Given the description of an element on the screen output the (x, y) to click on. 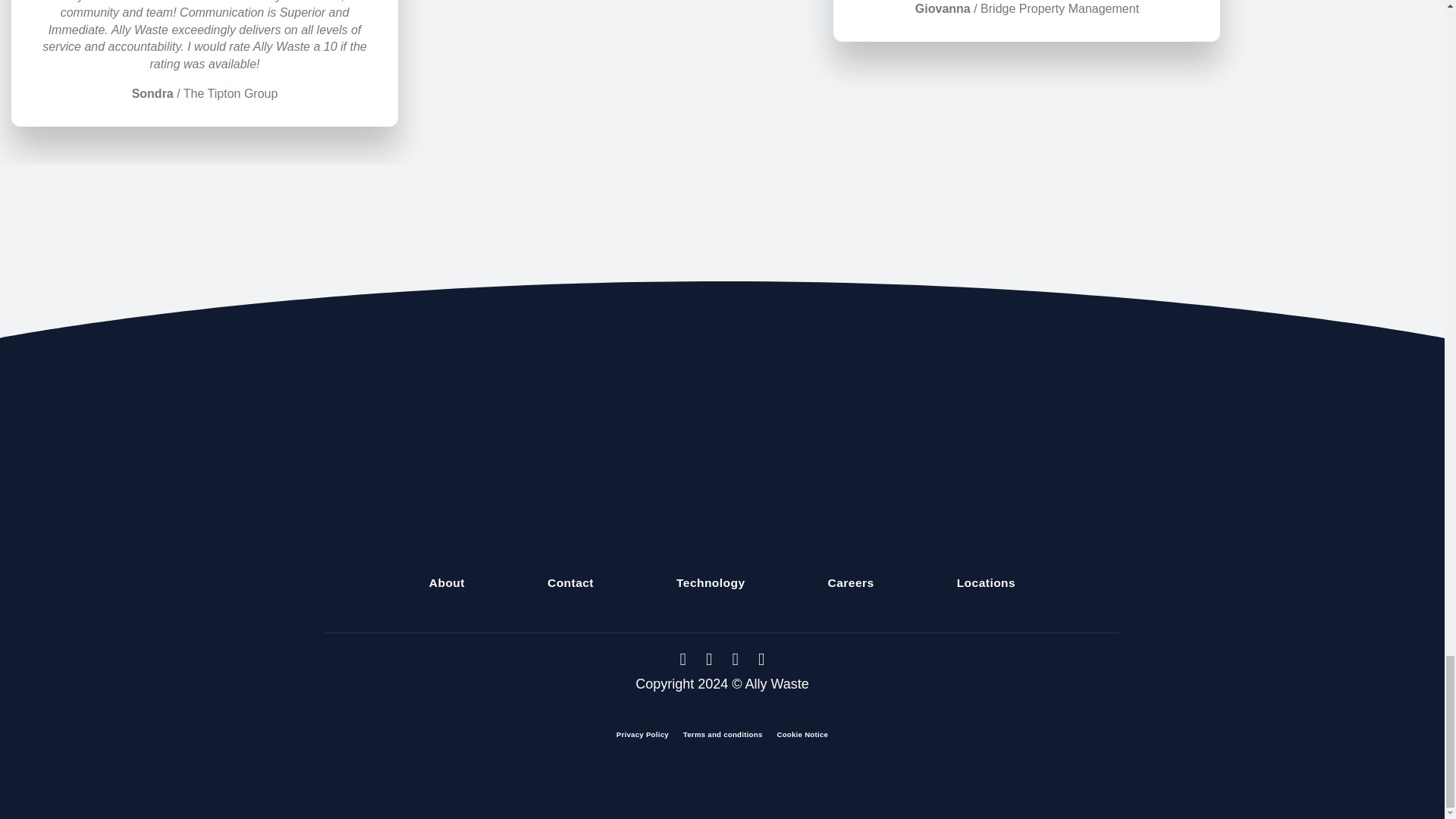
About (446, 582)
Privacy Policy (641, 733)
Careers (850, 582)
Locations (985, 582)
Contact (570, 582)
Technology (711, 582)
